Given the description of an element on the screen output the (x, y) to click on. 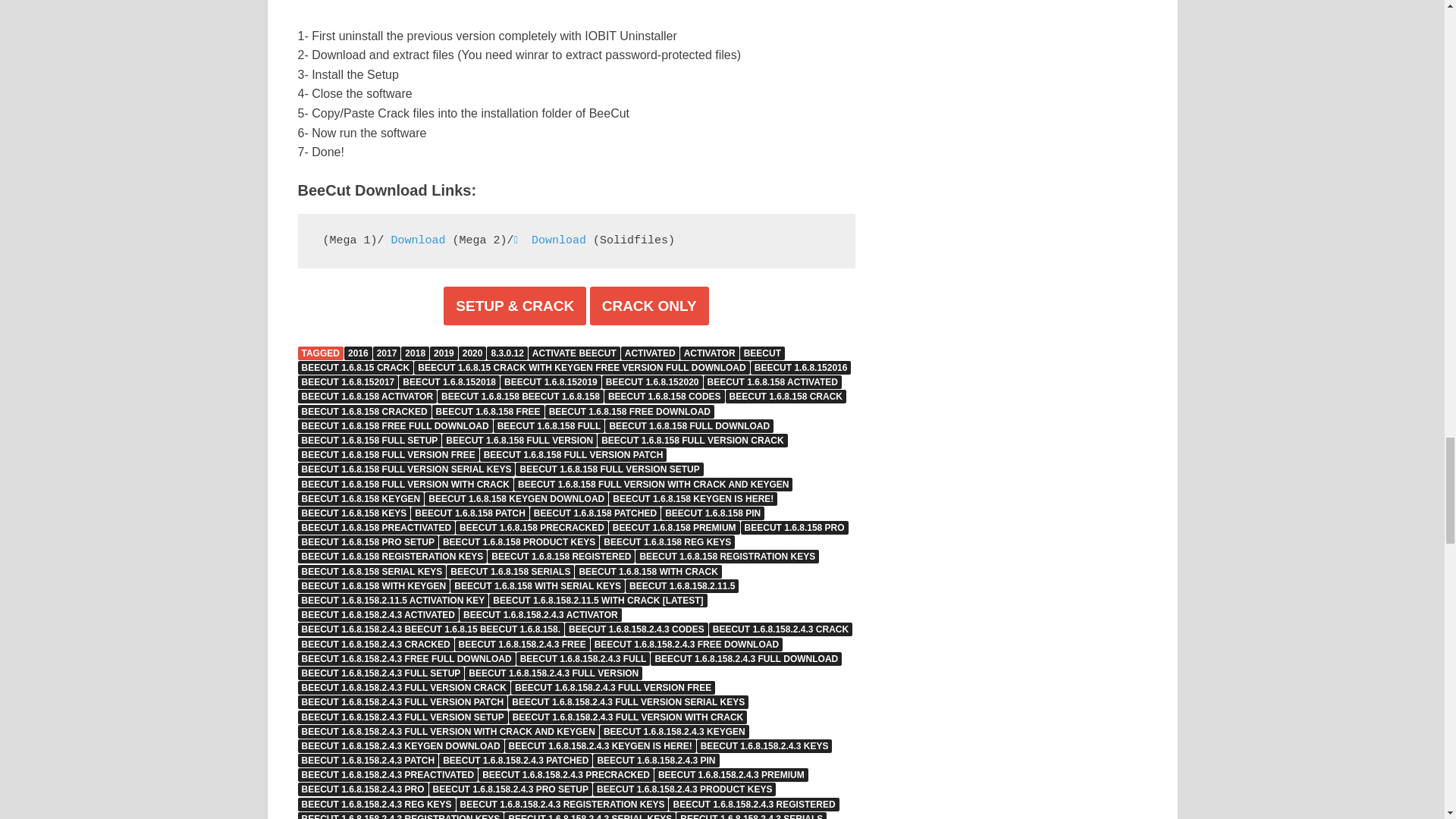
CRACK ONLY (649, 305)
8.3.0.12 (506, 353)
2018 (415, 353)
BEECUT 1.6.8.152016 (801, 367)
BEECUT 1.6.8.152019 (550, 382)
BEECUT (761, 353)
2020 (472, 353)
  Download (549, 240)
BEECUT 1.6.8.15 CRACK WITH KEYGEN FREE VERSION FULL DOWNLOAD (581, 367)
BEECUT 1.6.8.15 CRACK (355, 367)
